Given the description of an element on the screen output the (x, y) to click on. 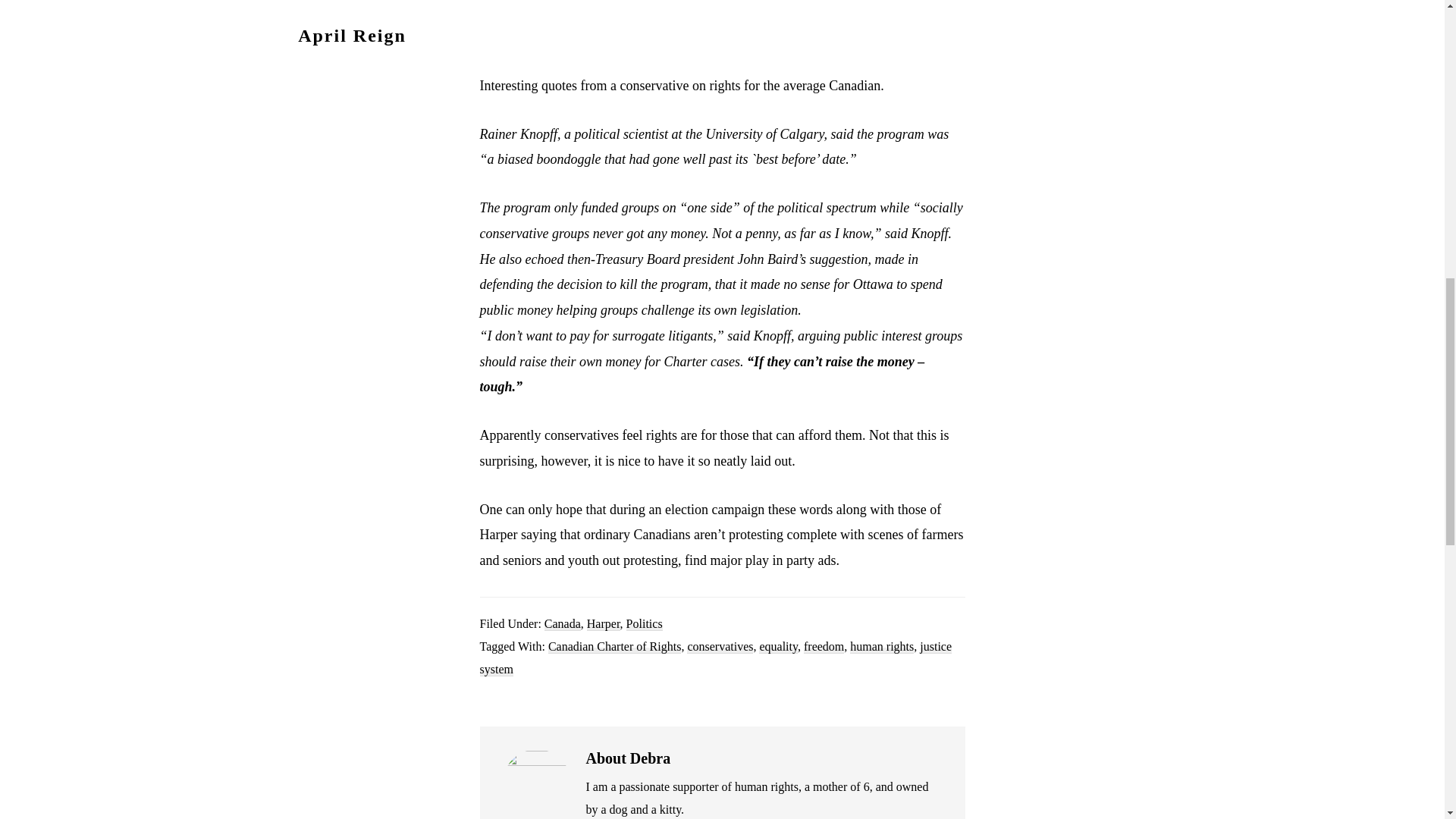
Politics (644, 623)
Harper (603, 623)
justice system (715, 657)
human rights (882, 646)
equality (777, 646)
conservatives (719, 646)
freedom (823, 646)
Canada (562, 623)
Canadian Charter of Rights (614, 646)
